Given the description of an element on the screen output the (x, y) to click on. 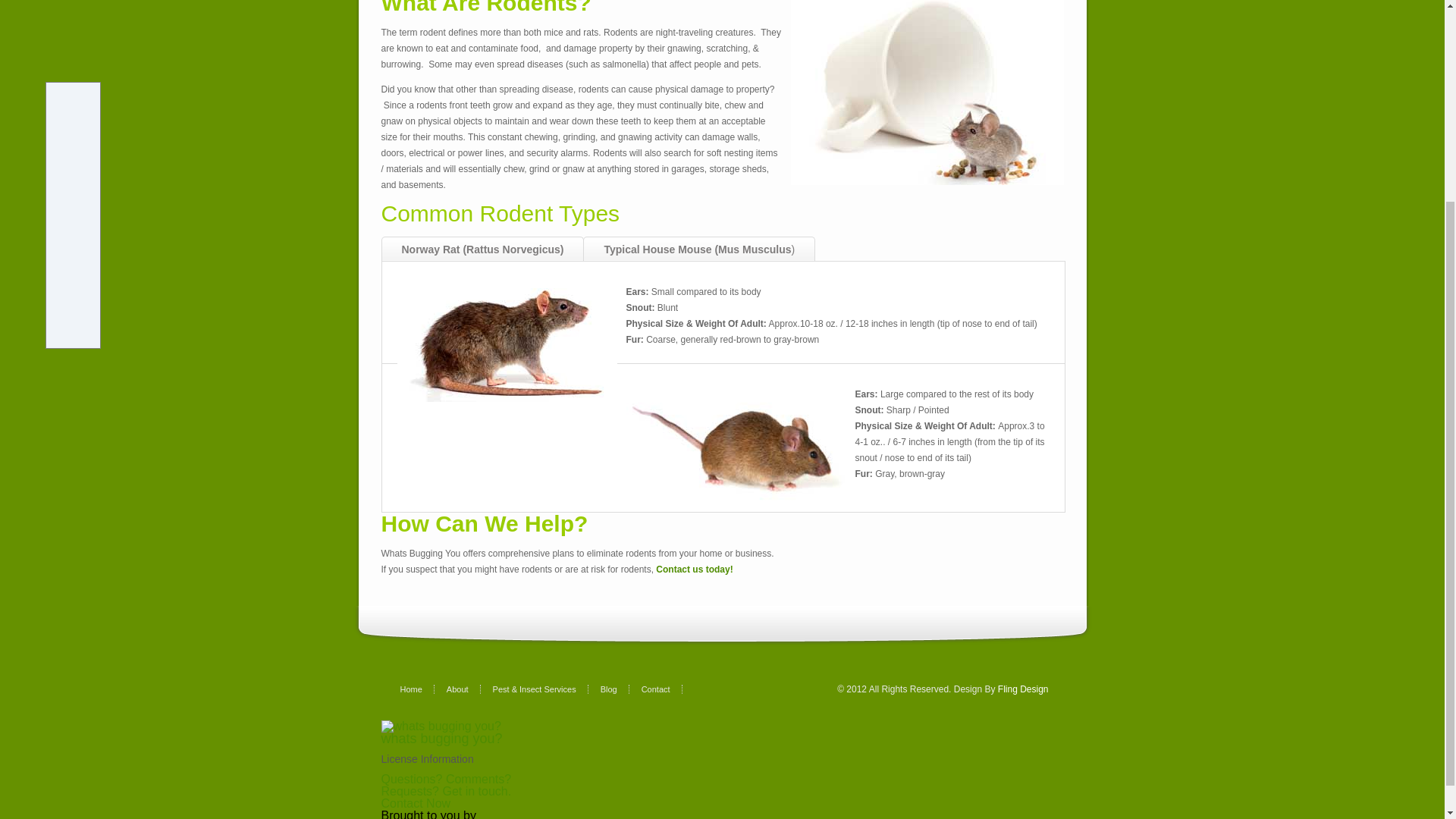
whats bugging you? (441, 738)
HouseMouse (735, 447)
Contact (662, 688)
About (463, 688)
Contact us today! (694, 569)
Questions? Comments? Requests? Get in touch. (445, 785)
Rodent (926, 92)
Contact Now (414, 802)
Home (416, 688)
NorwayRat (507, 345)
